Given the description of an element on the screen output the (x, y) to click on. 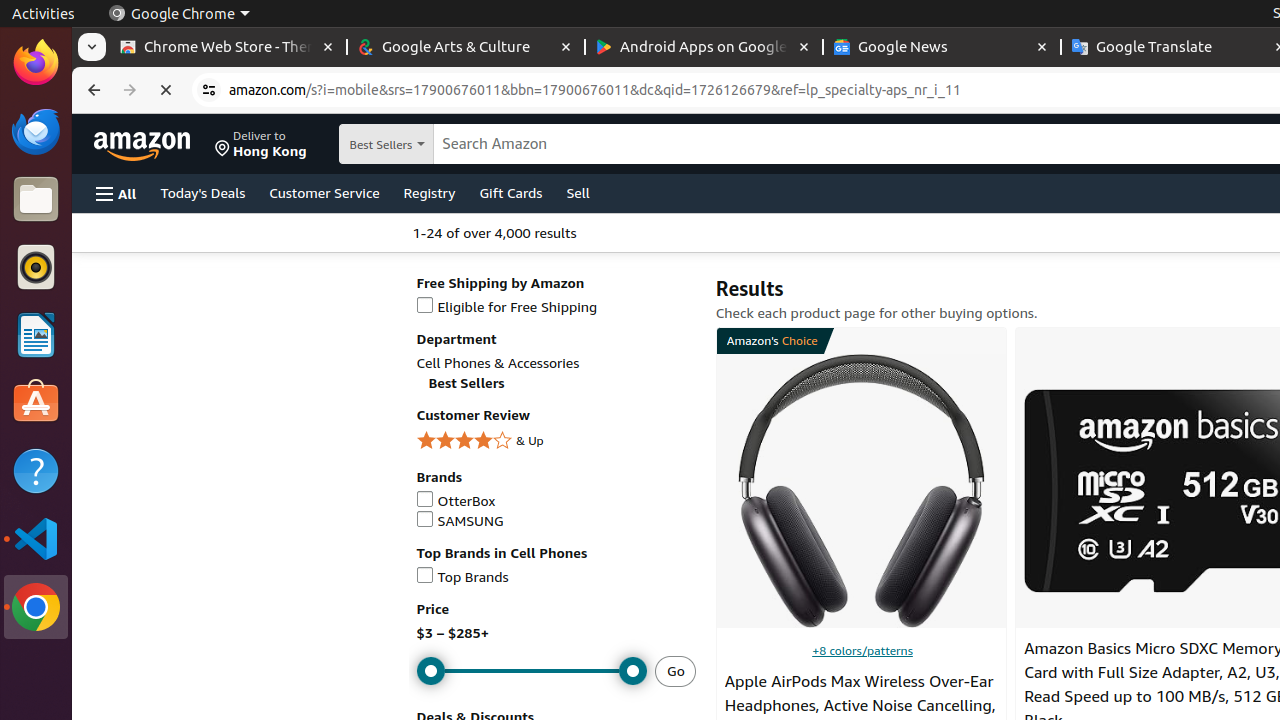
Google Chrome Element type: menu (179, 13)
Today's Deals Element type: link (203, 192)
OtterBox Element type: list-item (556, 501)
Ubuntu Software Element type: push-button (36, 402)
Maximum Element type: slider (532, 671)
